Given the description of an element on the screen output the (x, y) to click on. 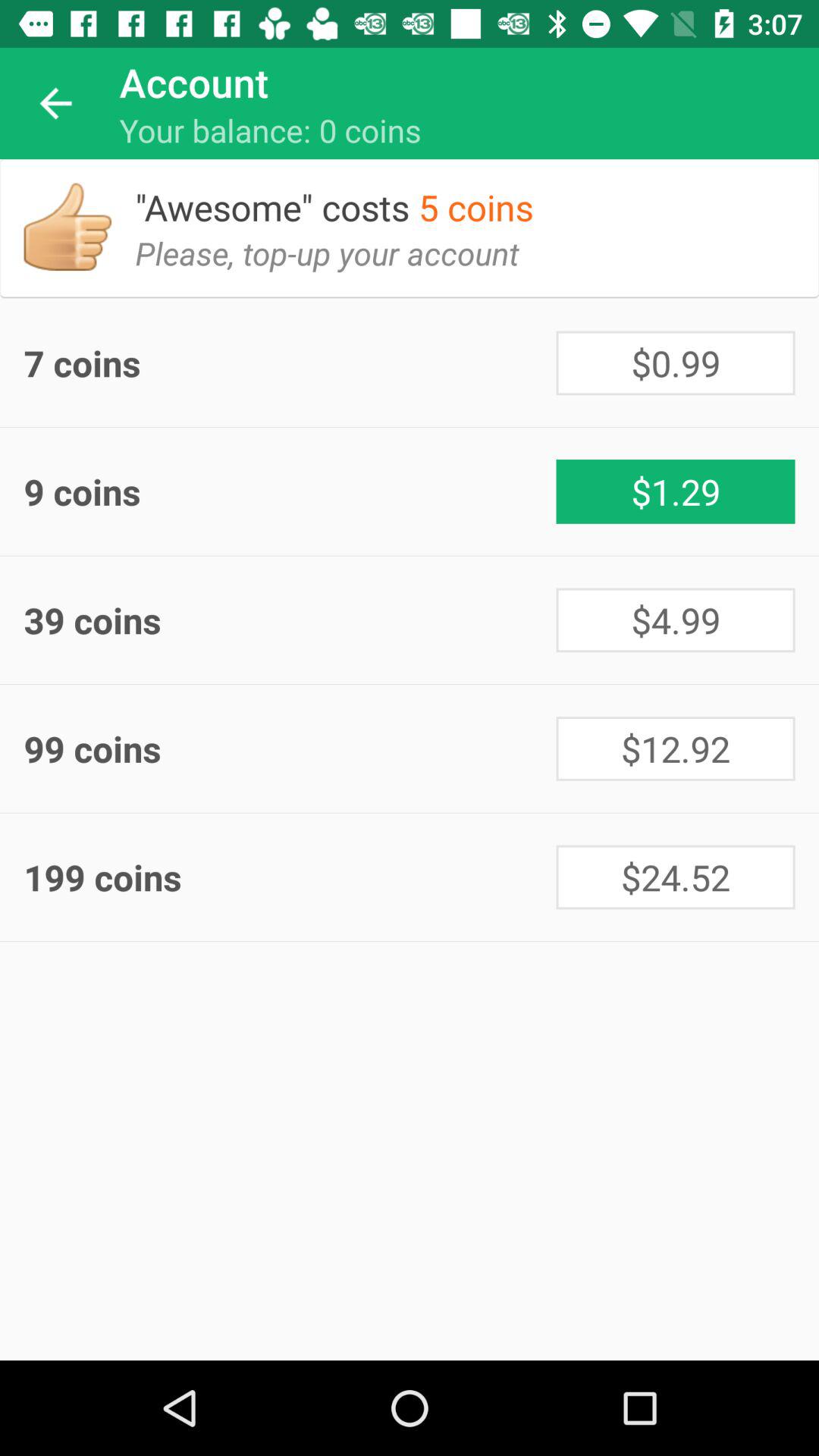
click the item to the left of the awesome costs 5 (67, 226)
